Given the description of an element on the screen output the (x, y) to click on. 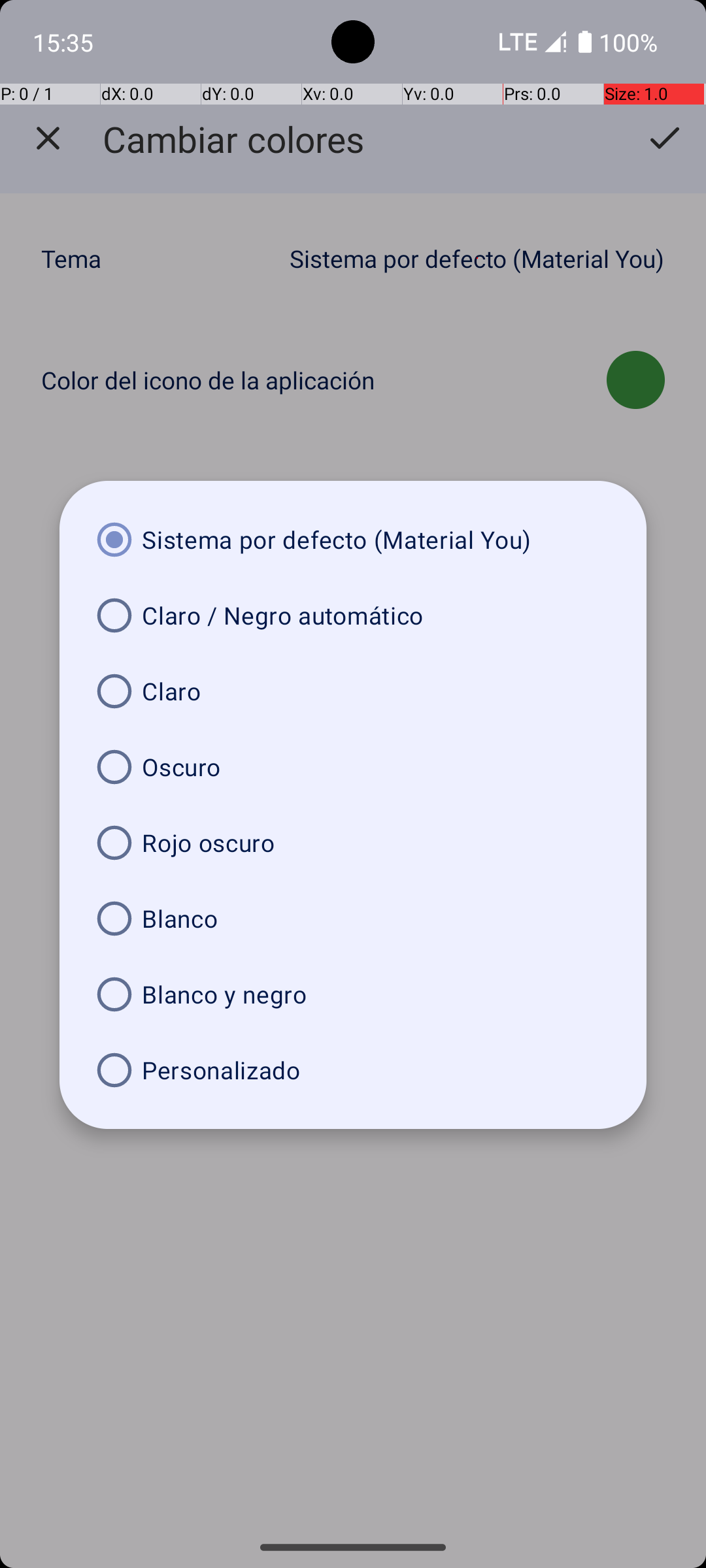
Sistema por defecto (Material You) Element type: android.widget.RadioButton (352, 539)
Claro / Negro automático Element type: android.widget.RadioButton (352, 615)
Claro Element type: android.widget.RadioButton (352, 691)
Oscuro Element type: android.widget.RadioButton (352, 766)
Rojo oscuro Element type: android.widget.RadioButton (352, 842)
Blanco Element type: android.widget.RadioButton (352, 918)
Blanco y negro Element type: android.widget.RadioButton (352, 994)
Personalizado Element type: android.widget.RadioButton (352, 1070)
